Given the description of an element on the screen output the (x, y) to click on. 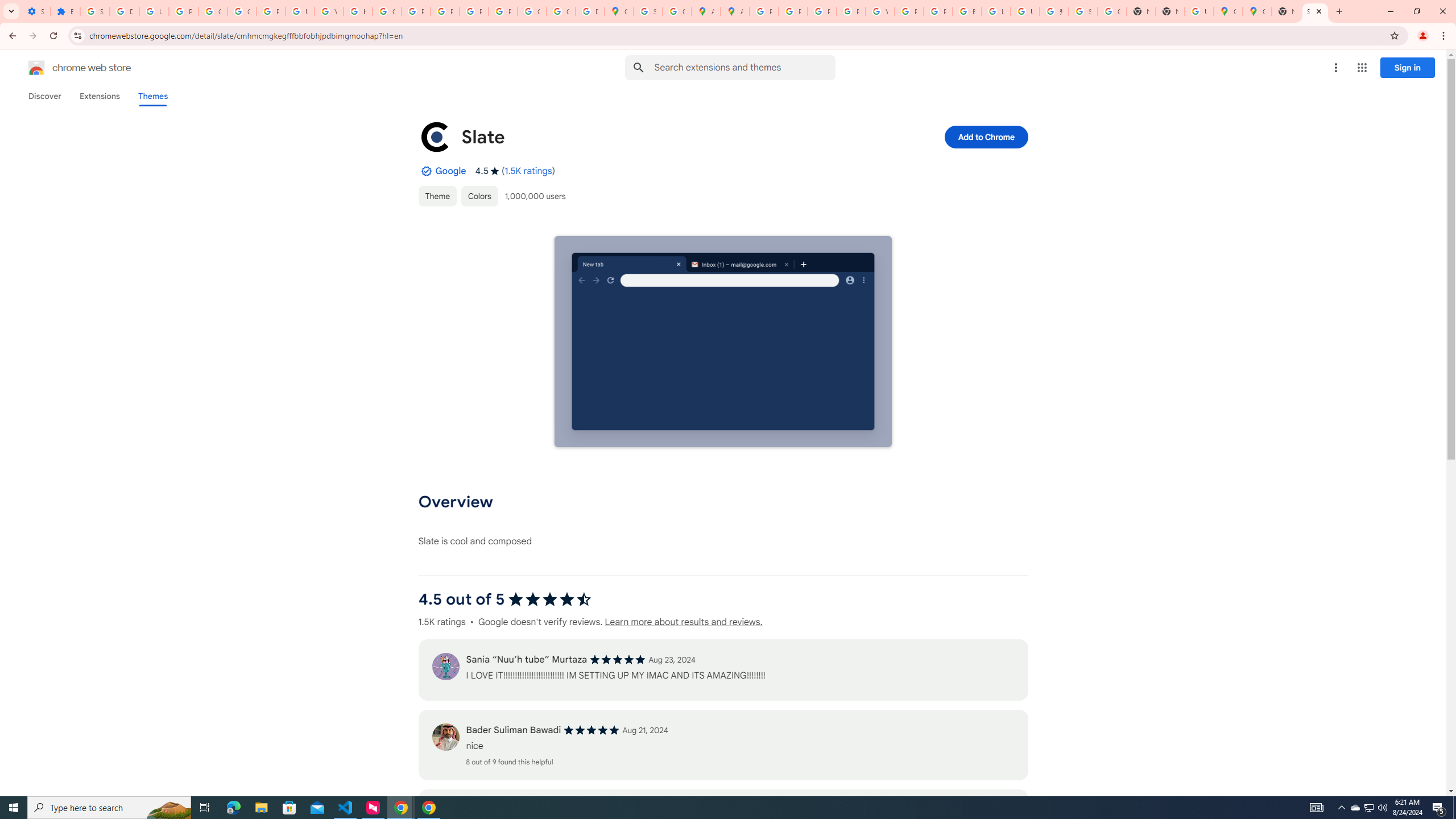
Item media 1 screenshot (723, 342)
Item media 1 screenshot (722, 341)
Chrome Web Store logo chrome web store (67, 67)
New Tab (1169, 11)
Google Account Help (212, 11)
Themes (152, 95)
